Given the description of an element on the screen output the (x, y) to click on. 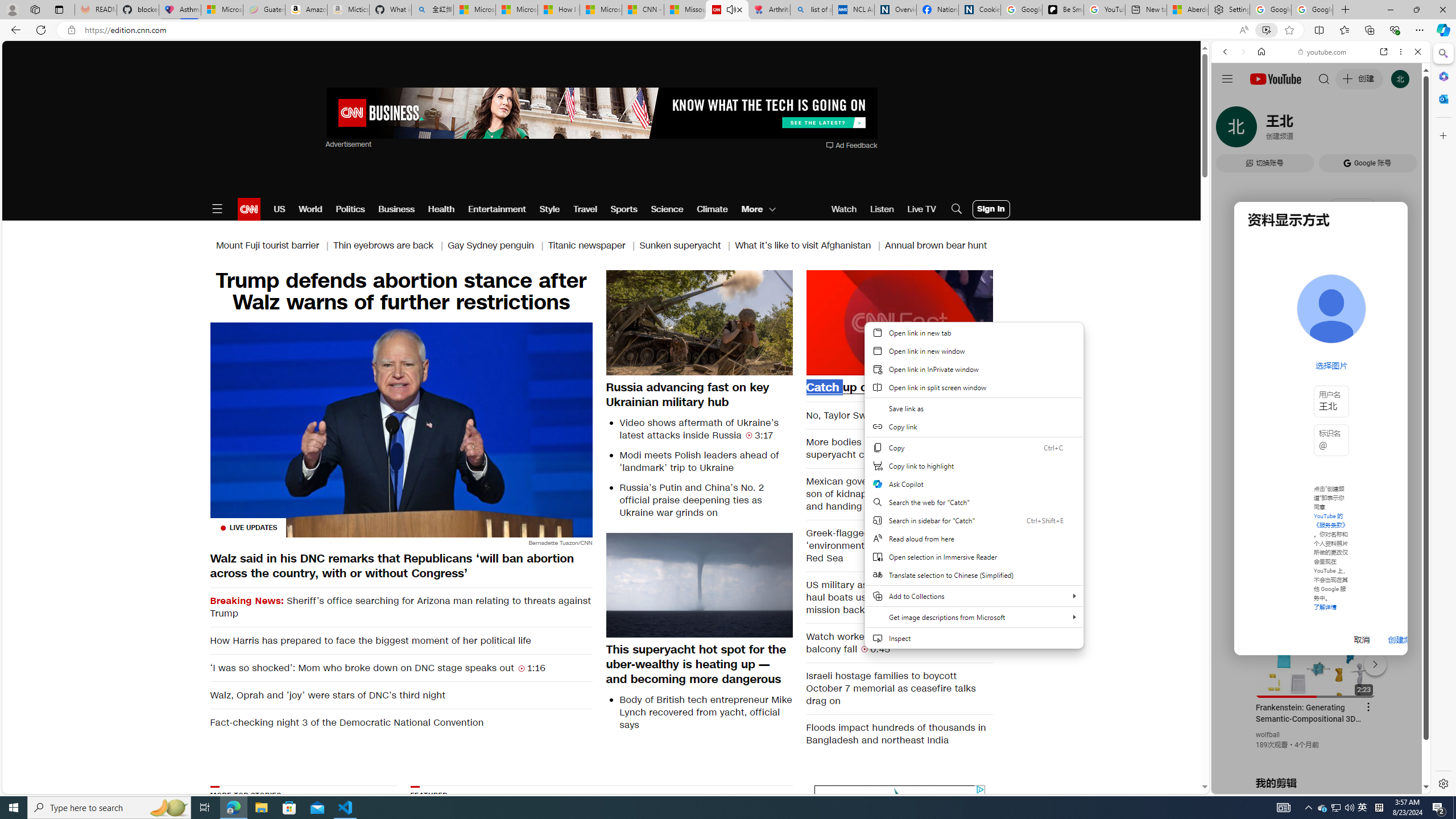
Backward 10 seconds (864, 322)
Mute (821, 365)
WEB   (1230, 130)
World (309, 209)
Live TV (921, 208)
NCL Adult Asthma Inhaler Choice Guideline (853, 9)
Search Icon (956, 208)
Search the web for "Catch" (973, 502)
